Given the description of an element on the screen output the (x, y) to click on. 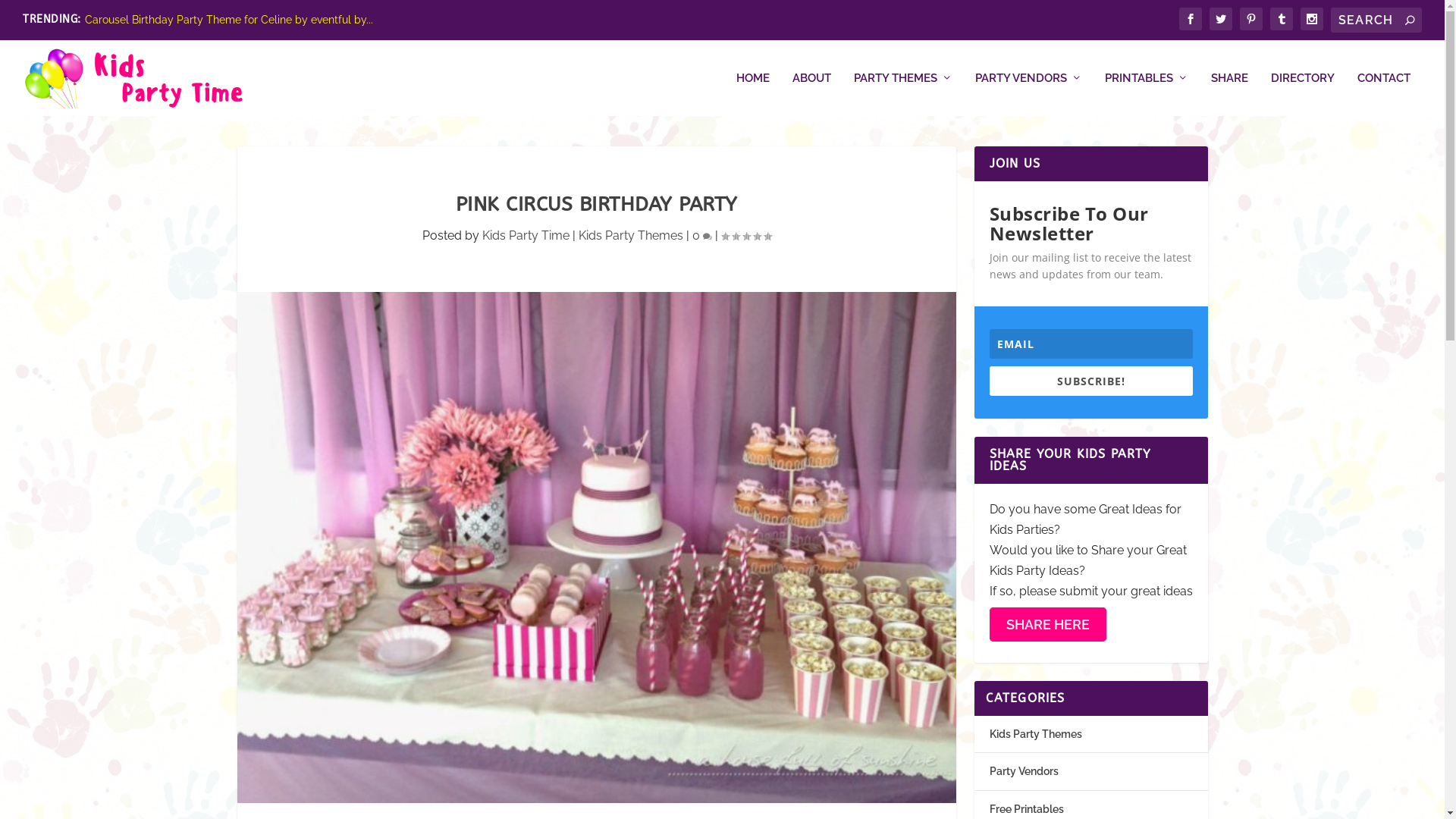
Rating: 0.00 Element type: hover (745, 235)
Kids Party Time Element type: text (525, 235)
PARTY THEMES Element type: text (902, 93)
Free Printables Element type: text (1025, 809)
comment count Element type: hover (706, 236)
PARTY VENDORS Element type: text (1028, 93)
0 Element type: text (701, 235)
DIRECTORY Element type: text (1302, 93)
SUBSCRIBE! Element type: text (1090, 380)
Kids Party Themes Element type: text (629, 235)
SHARE Element type: text (1229, 93)
Wild One Birthday Party for Ragna Element type: text (170, 19)
PRINTABLES Element type: text (1146, 93)
Party Vendors Element type: text (1022, 771)
Kids Party Themes Element type: text (1034, 734)
ABOUT Element type: text (811, 93)
HOME Element type: text (752, 93)
CONTACT Element type: text (1383, 93)
SHARE HERE Element type: text (1046, 623)
Search for: Element type: hover (1375, 19)
